Given the description of an element on the screen output the (x, y) to click on. 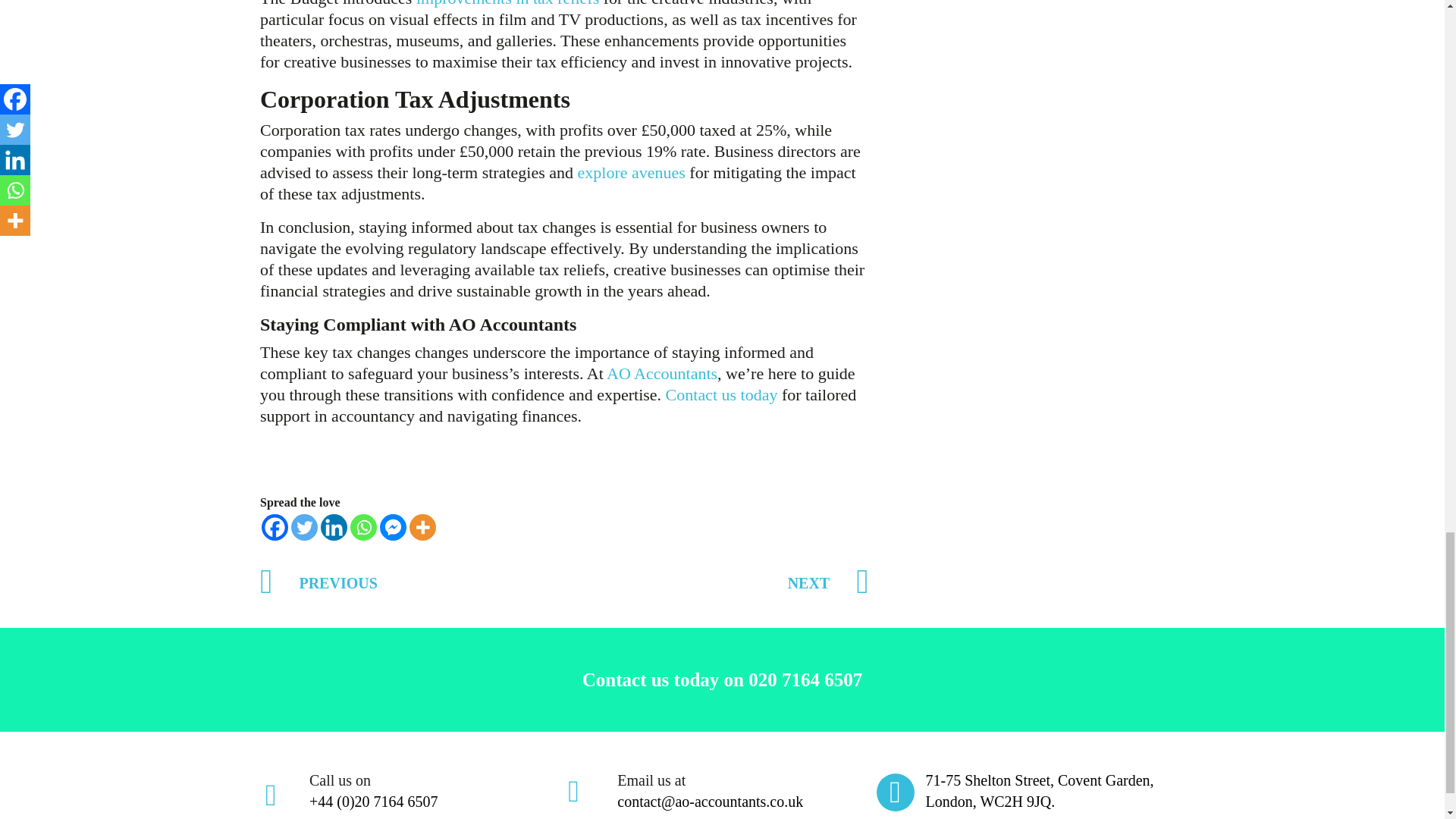
improvements in tax reliefs (507, 3)
Facebook (275, 527)
More (422, 527)
explore avenues (631, 171)
Whatsapp (363, 527)
PREVIOUS (318, 582)
NEXT (828, 585)
AO Accountants (662, 373)
Twitter (304, 527)
Contact us today (721, 394)
